Given the description of an element on the screen output the (x, y) to click on. 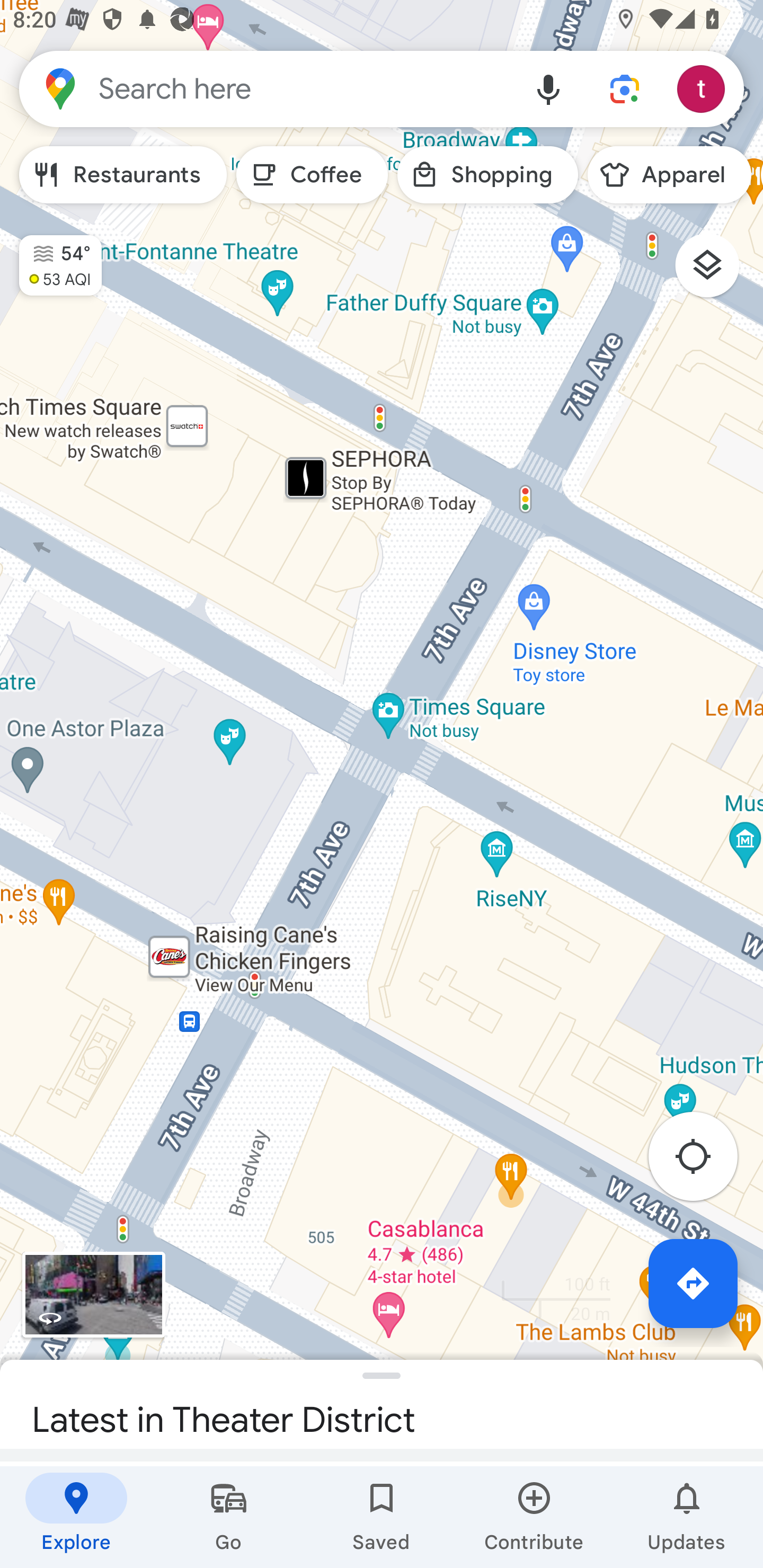
Search here (264, 88)
Voice search (548, 88)
Lens in Maps (624, 88)
Account and settings. (703, 88)
Restaurants Search for Restaurants (122, 174)
Coffee Search for Coffee (311, 174)
Shopping Search for Shopping (487, 174)
Apparel Search for Apparel (669, 174)
Mist, 54°, Moderate, 53 AQI 54° 53 AQI (50, 257)
Layers (716, 271)
Re-center map to your location (702, 1161)
Directions (692, 1283)
View Street view imagery (93, 1294)
Go (228, 1517)
Saved (381, 1517)
Contribute (533, 1517)
Updates (686, 1517)
